Given the description of an element on the screen output the (x, y) to click on. 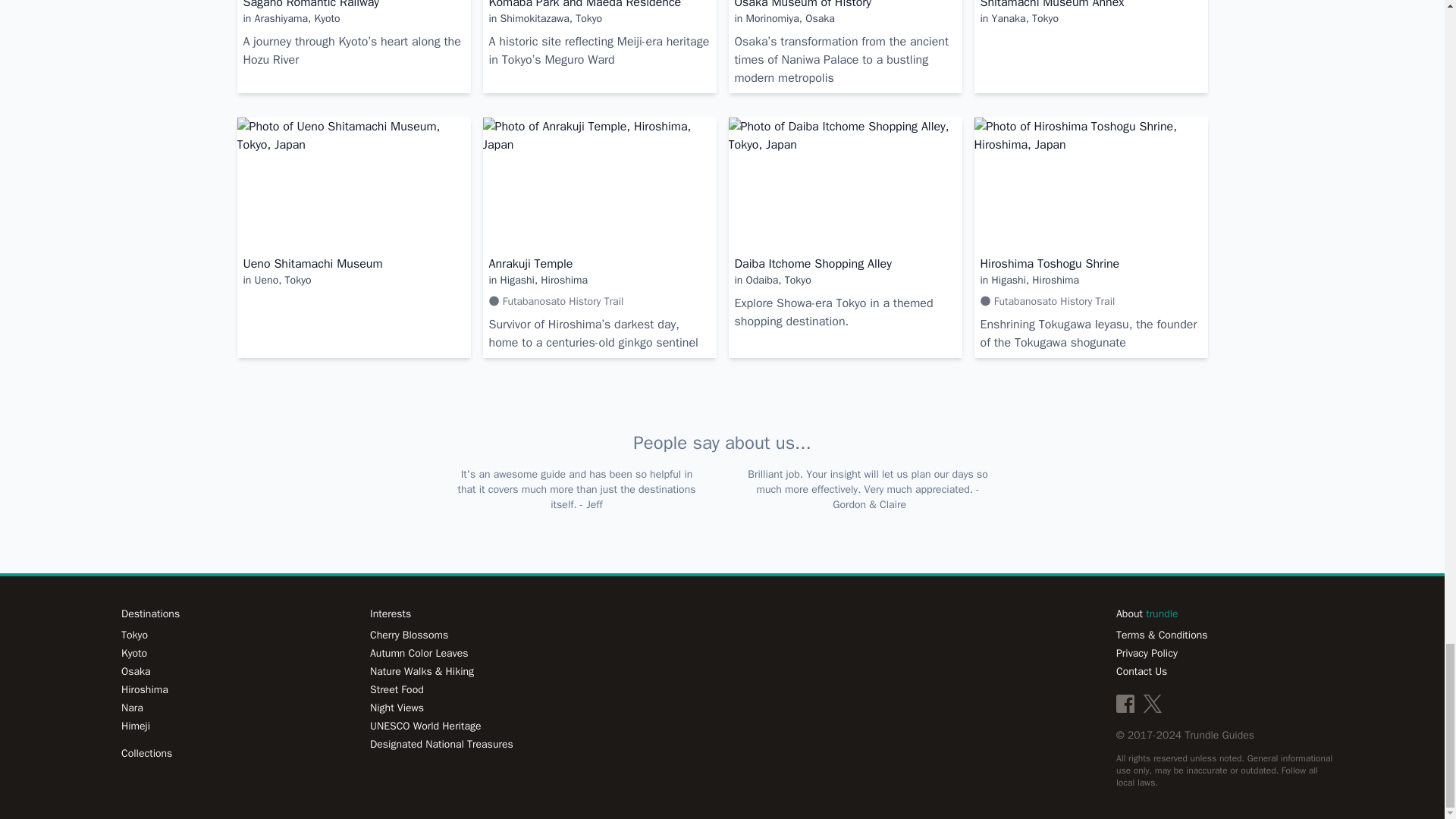
Twitter (1151, 703)
Facebook (1125, 703)
